Given the description of an element on the screen output the (x, y) to click on. 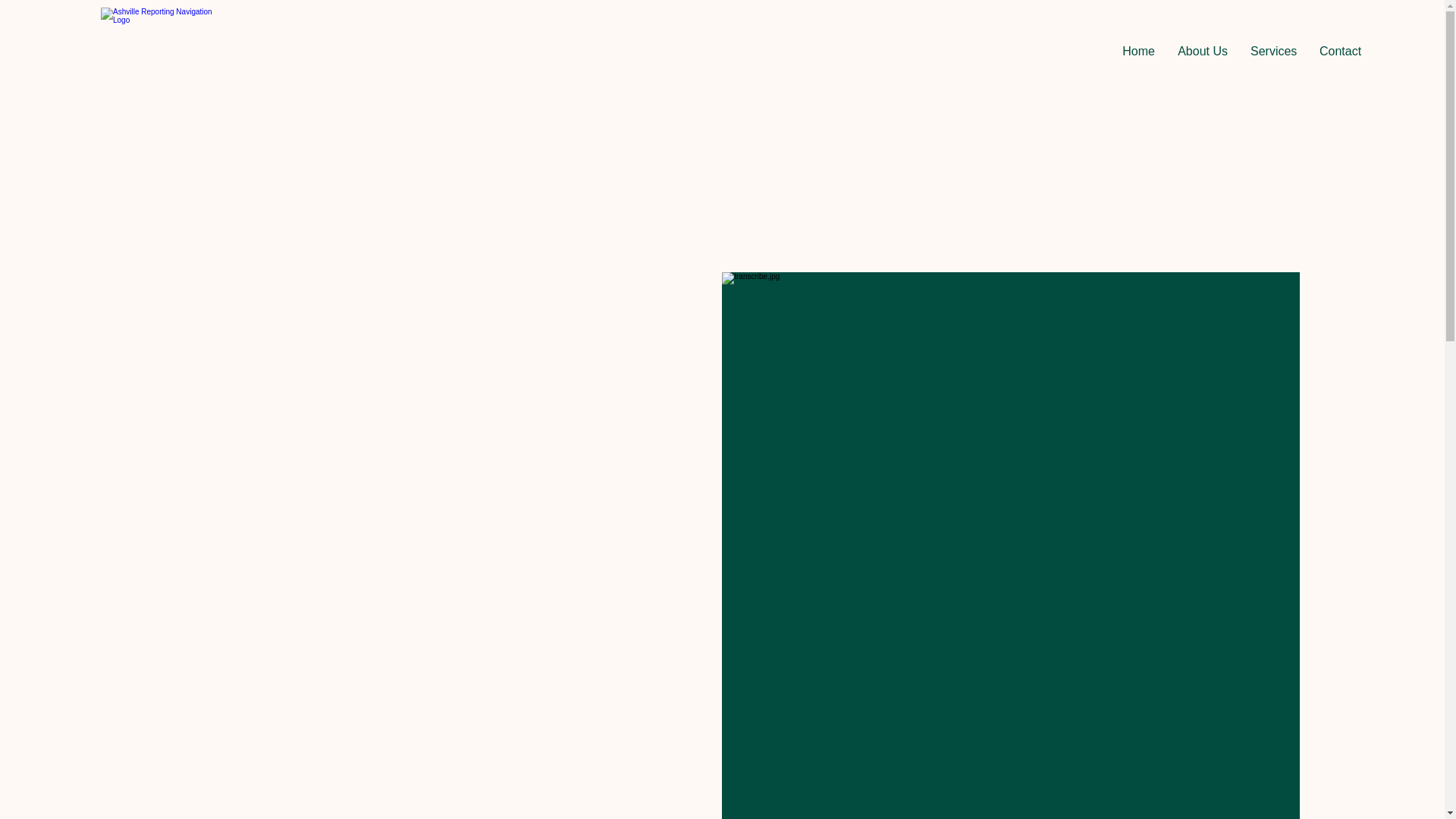
Home (1138, 51)
About Us (1202, 51)
Contact (1340, 51)
